Given the description of an element on the screen output the (x, y) to click on. 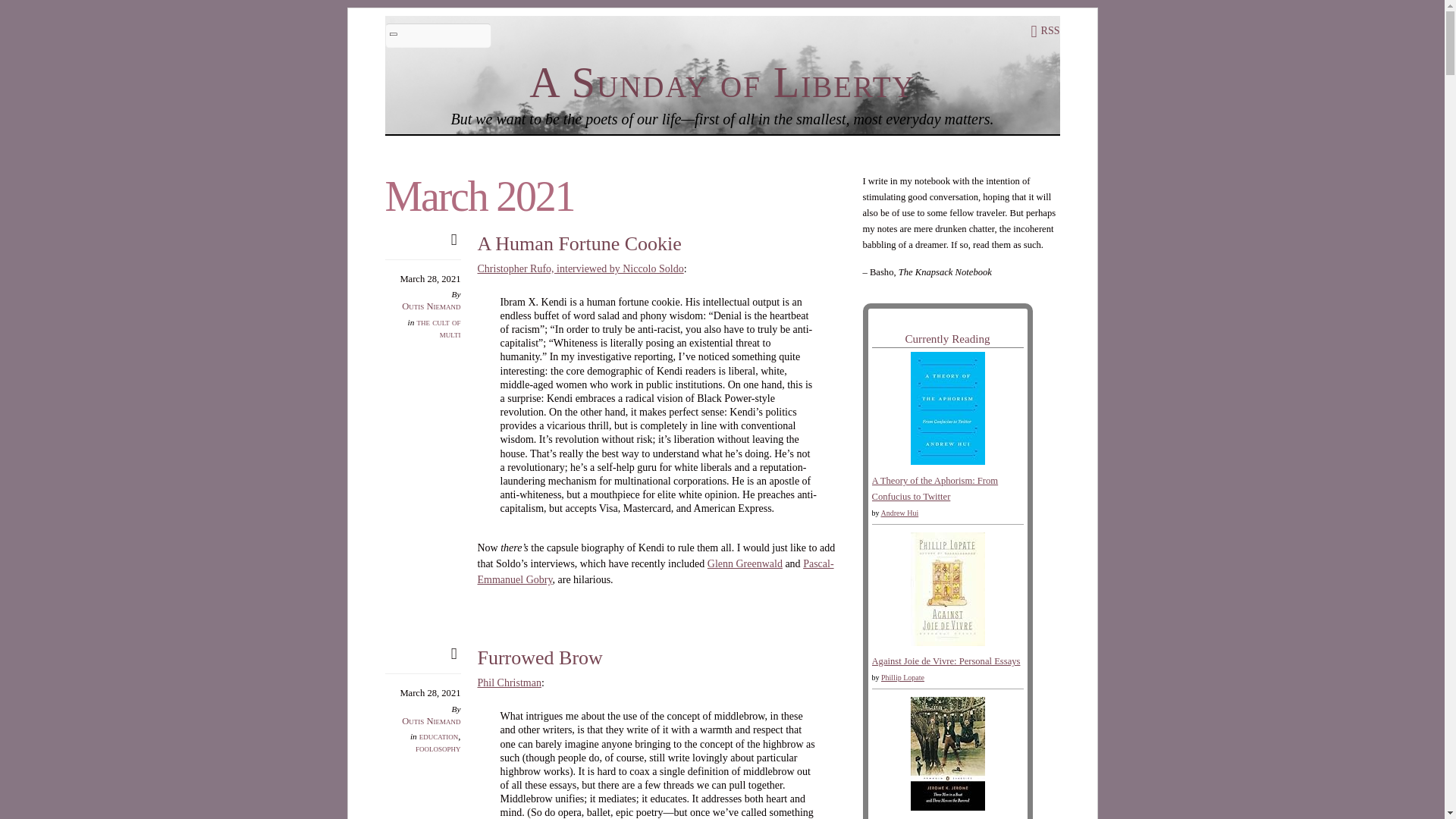
A Sunday of Liberty (721, 82)
the cult of multi (438, 327)
A Human Fortune Cookie (579, 243)
Search (438, 35)
Phil Christman (509, 682)
Glenn Greenwald (745, 563)
Against Joie de Vivre: Personal Essays (947, 643)
A Sunday of Liberty (721, 82)
Christopher Rufo, interviewed by Niccolo Soldo (580, 268)
Three Men in a Boat and Three Men on the Bummel (947, 807)
